Given the description of an element on the screen output the (x, y) to click on. 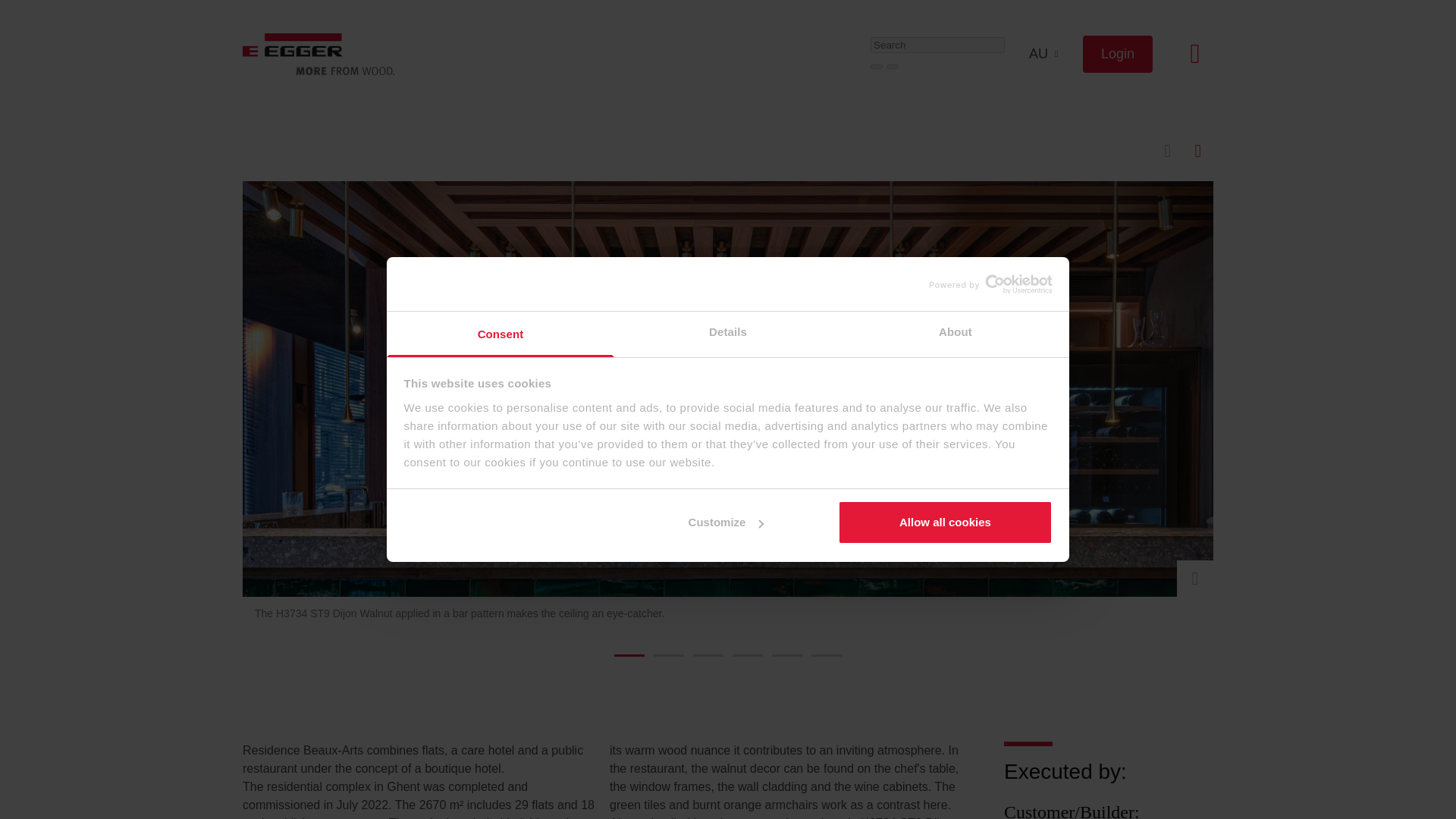
About (954, 334)
Consent (500, 334)
Details (727, 334)
